Given the description of an element on the screen output the (x, y) to click on. 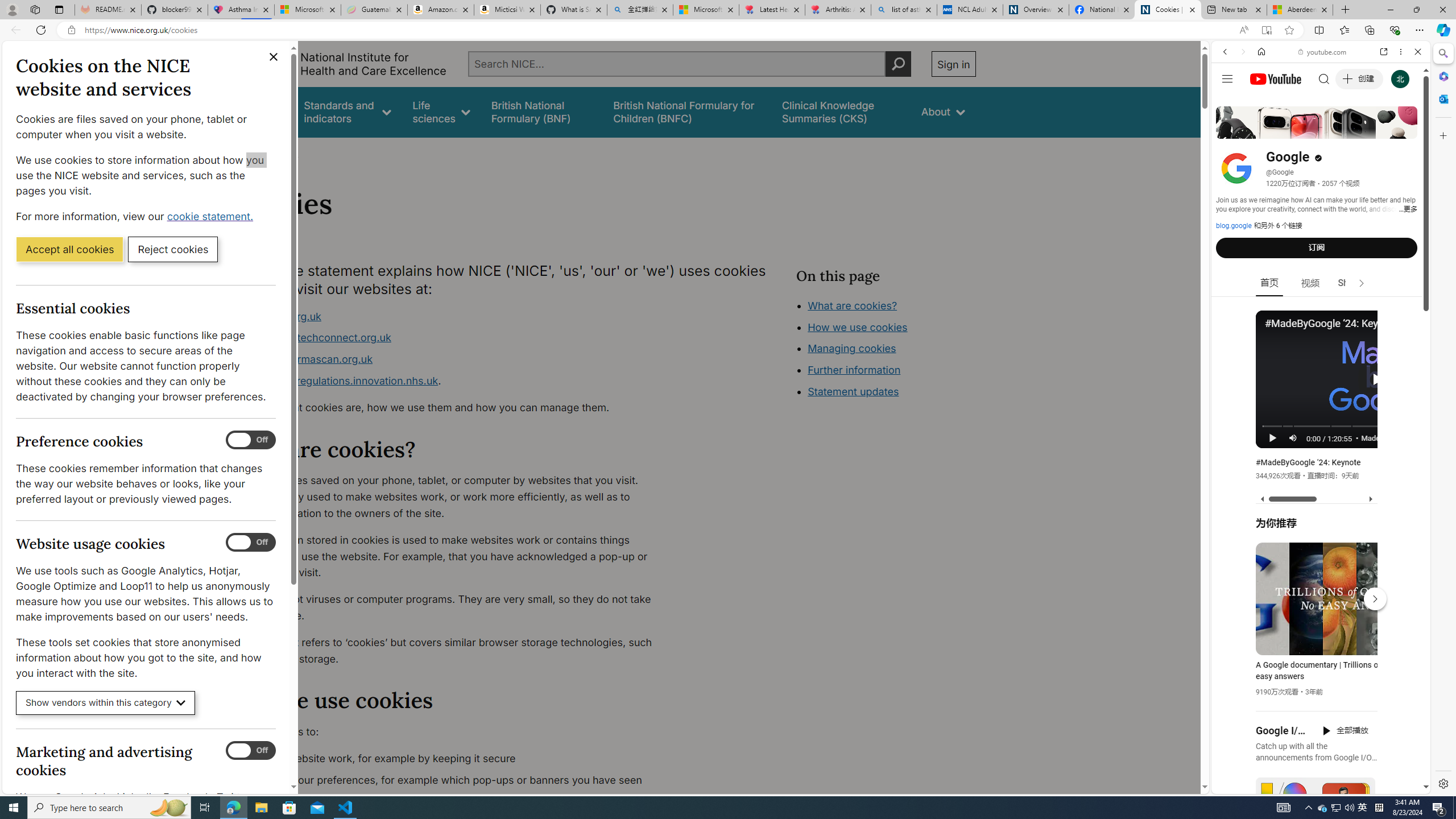
cookie statement. (Opens in a new window) (211, 215)
Trailer #2 [HD] (1320, 337)
What are cookies? (852, 305)
About (942, 111)
SEARCH TOOLS (1350, 130)
Close Outlook pane (1442, 98)
Home> (246, 152)
